Given the description of an element on the screen output the (x, y) to click on. 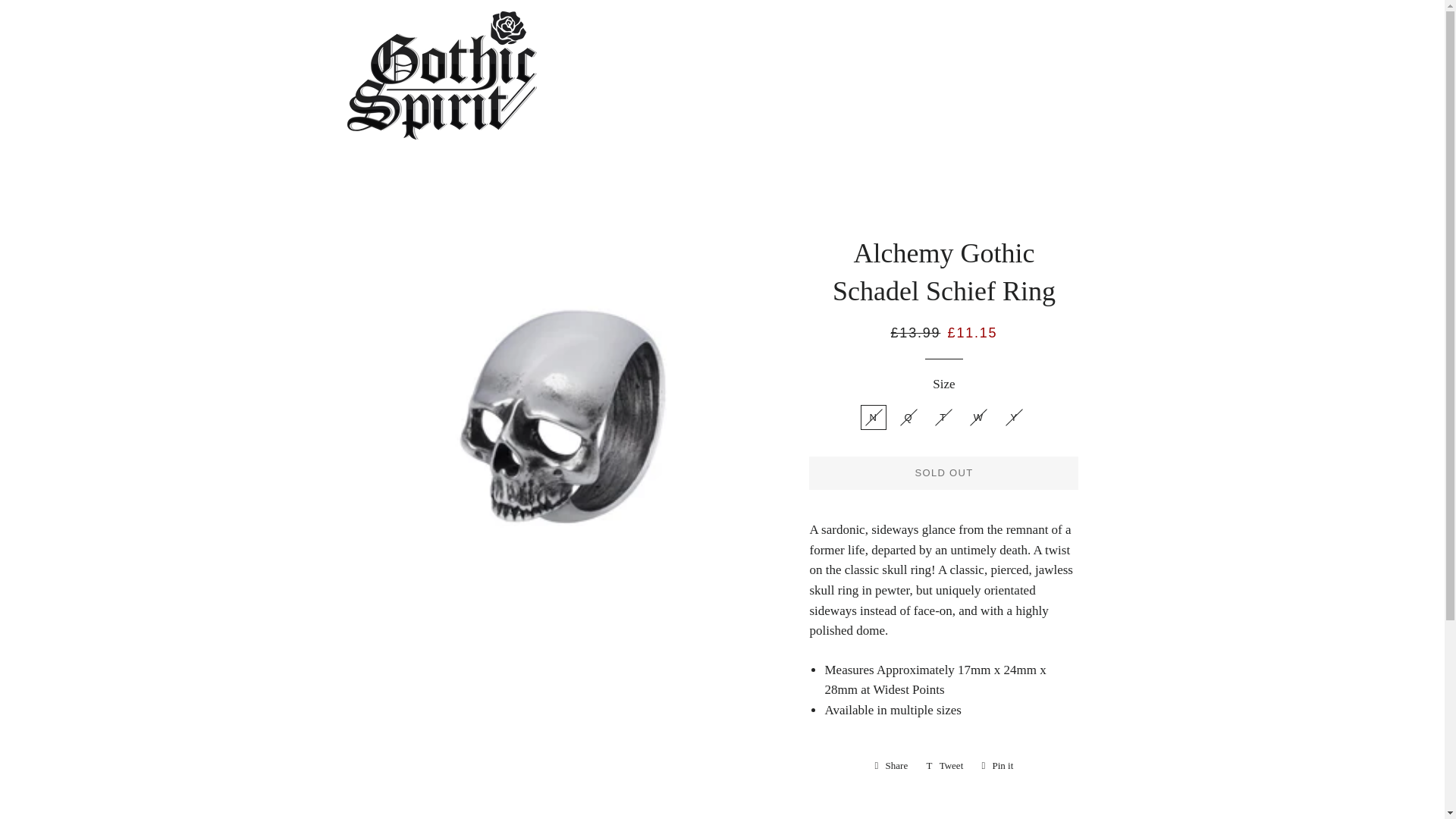
Tweet on Twitter (944, 765)
Share on Facebook (891, 765)
Pin on Pinterest (997, 765)
